Given the description of an element on the screen output the (x, y) to click on. 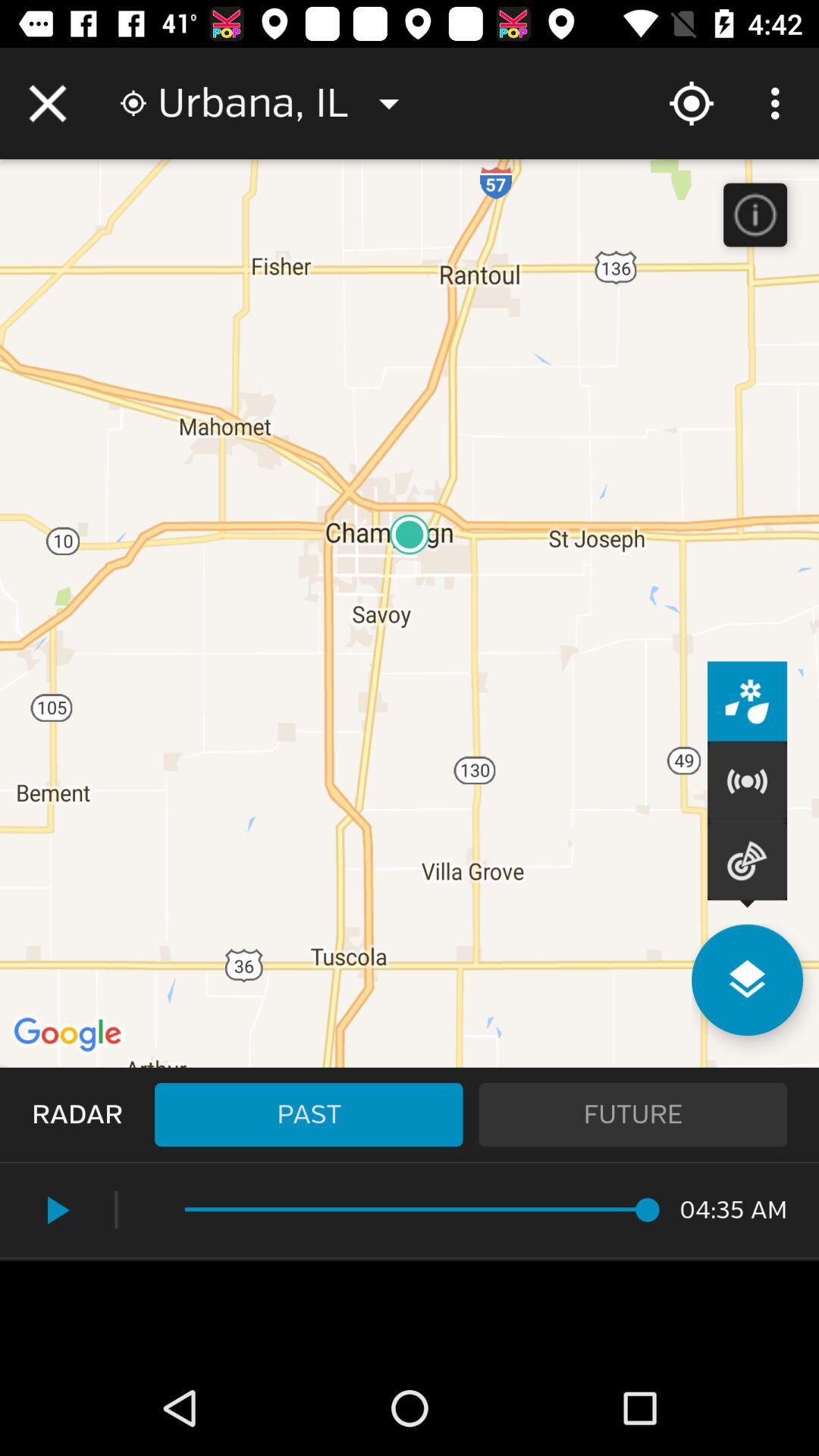
click future icon (632, 1114)
